Given the description of an element on the screen output the (x, y) to click on. 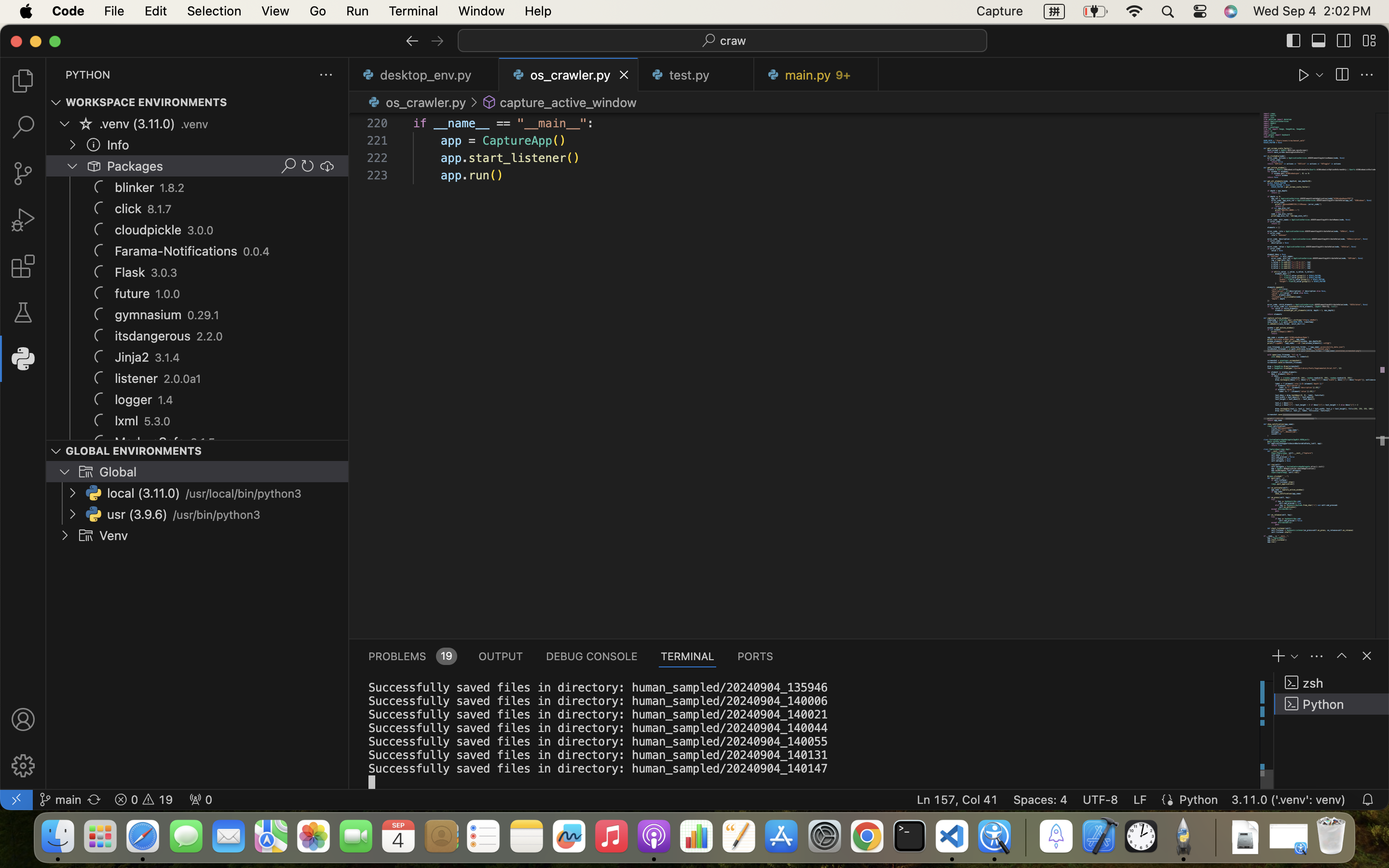
Python  Element type: AXGroup (1331, 703)
.venv (3.11.0) Element type: AXStaticText (137, 123)
WORKSPACE ENVIRONMENTS Element type: AXStaticText (146, 102)
main  Element type: AXButton (59, 799)
capture_active_window Element type: AXGroup (567, 101)
